Given the description of an element on the screen output the (x, y) to click on. 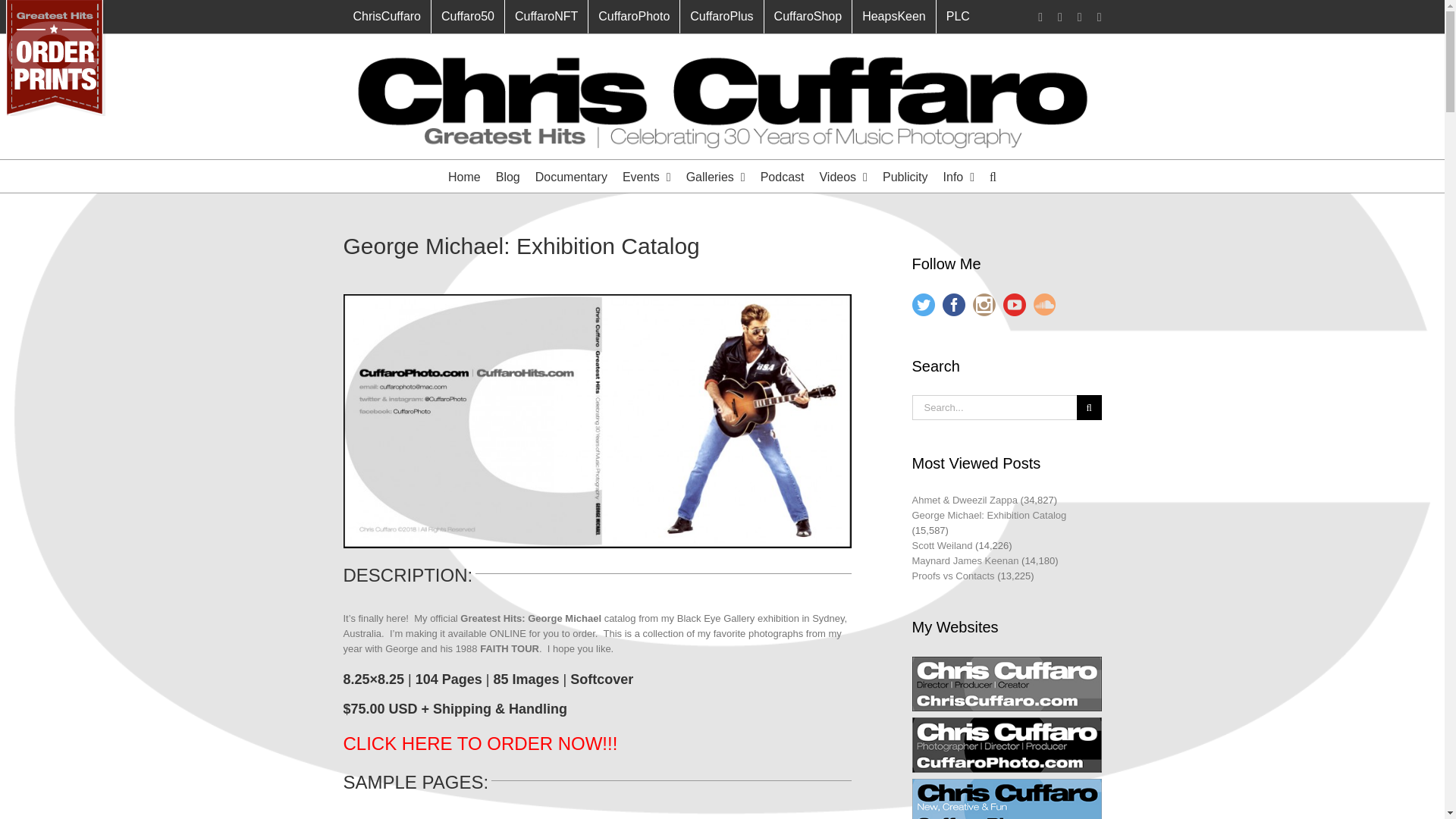
ChrisCuffaro (386, 16)
PLC (957, 16)
HeapsKeen (893, 16)
Documentary (571, 175)
Home (464, 175)
CuffaroPhoto (633, 16)
CuffaroShop (807, 16)
CuffaroNFT (546, 16)
Cuffaro50 (466, 16)
Events (647, 175)
